Given the description of an element on the screen output the (x, y) to click on. 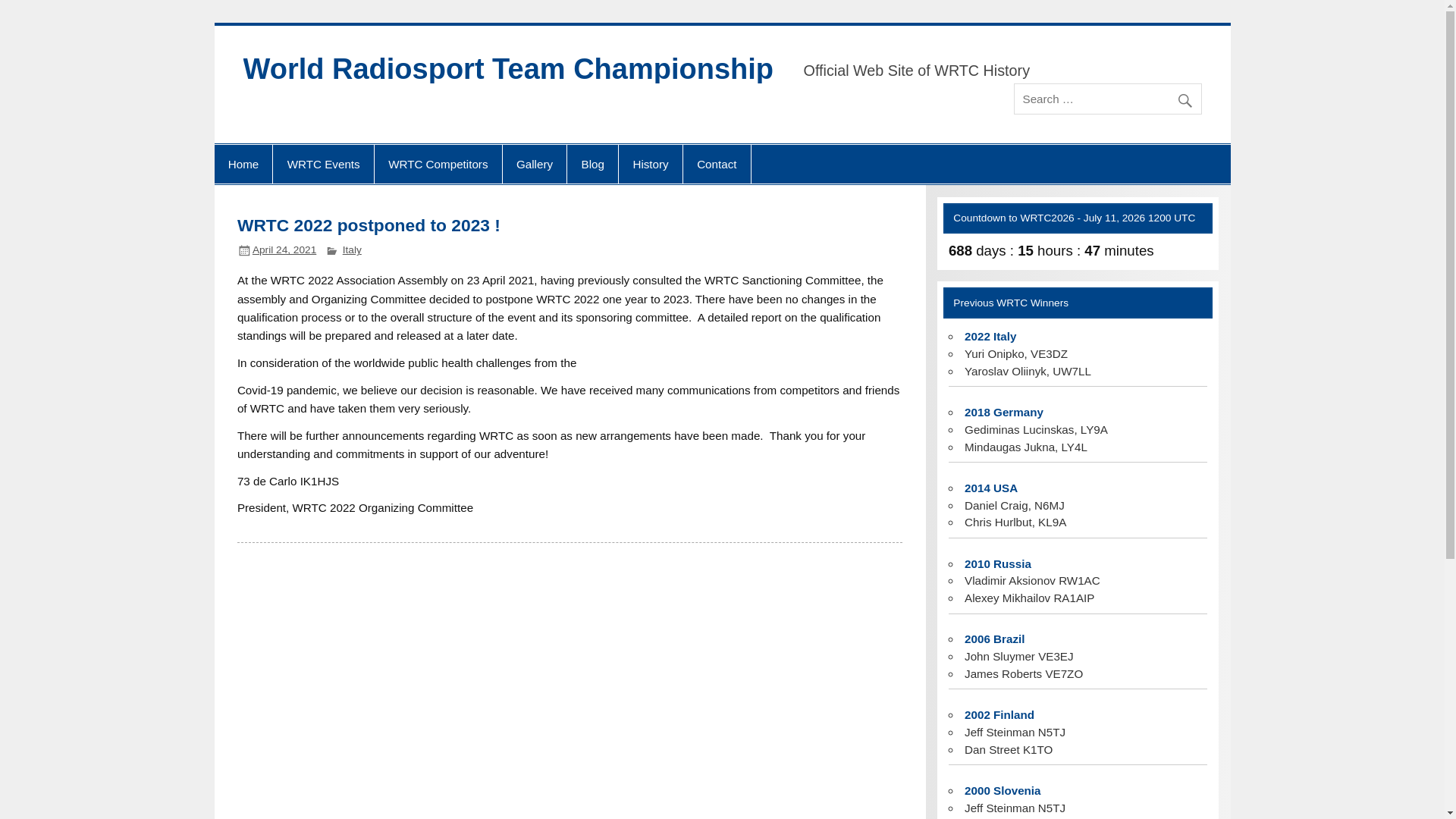
Contact (716, 164)
History (650, 164)
WRTC Events (322, 164)
Home (243, 164)
Gallery (534, 164)
2018 Germany (1003, 411)
2006 Brazil (994, 638)
Italy (351, 249)
2022 Italy (989, 336)
WRTC Competitors (438, 164)
